Given the description of an element on the screen output the (x, y) to click on. 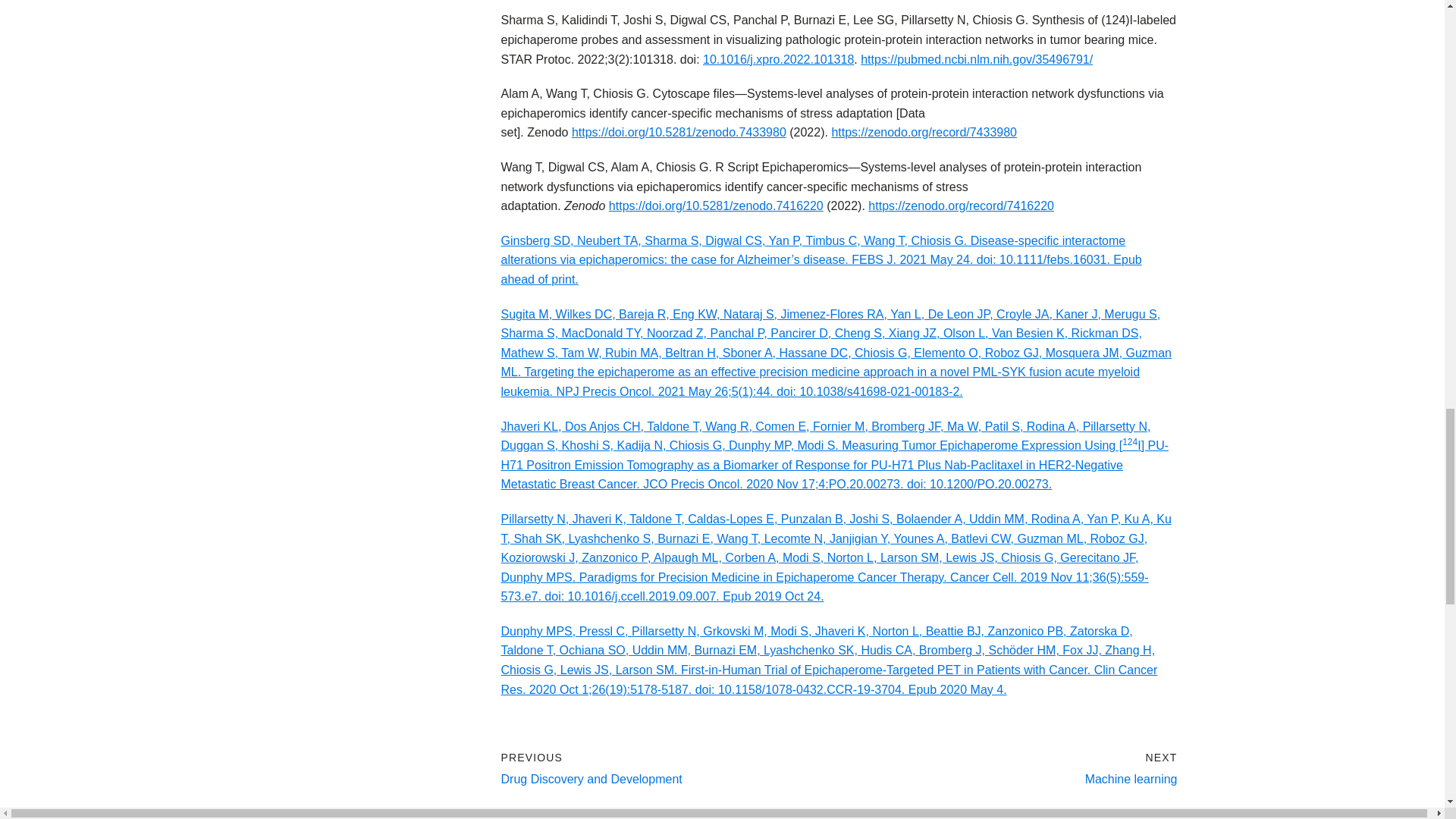
Persistent link using digital object identifier (778, 59)
